Given the description of an element on the screen output the (x, y) to click on. 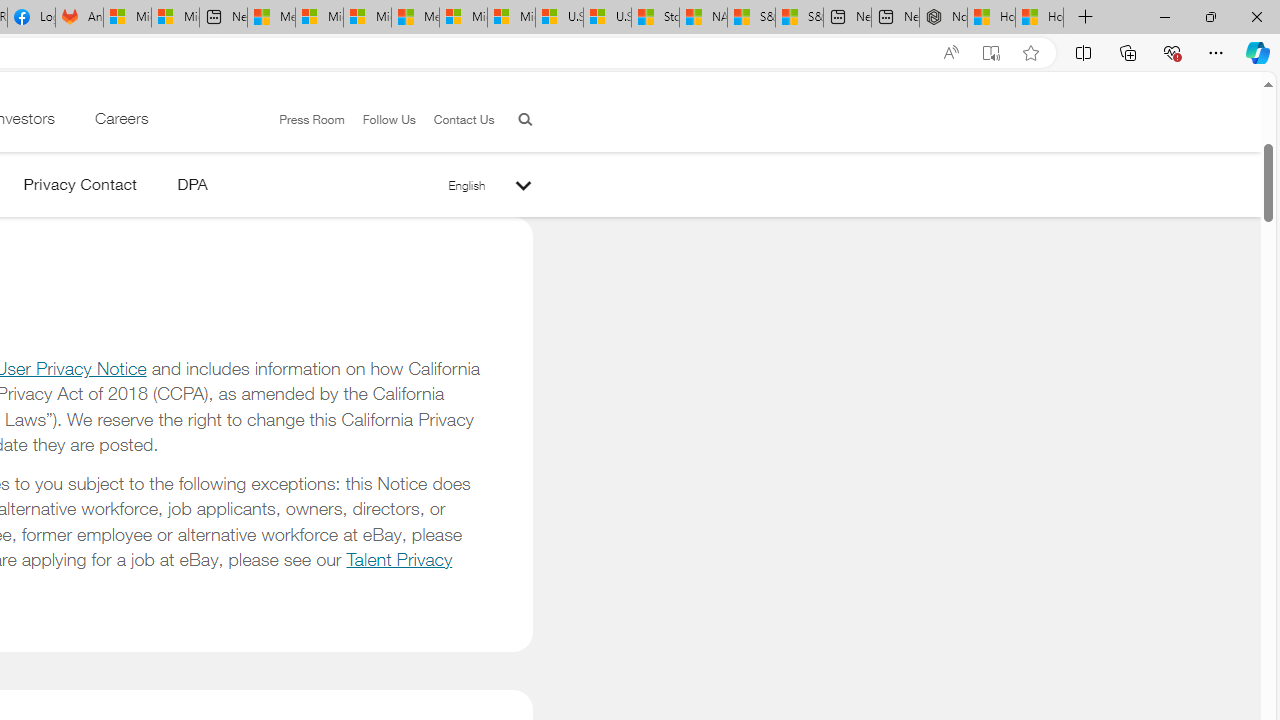
Privacy Contact (80, 188)
Enter Immersive Reader (F9) (991, 53)
DPA (191, 188)
